Given the description of an element on the screen output the (x, y) to click on. 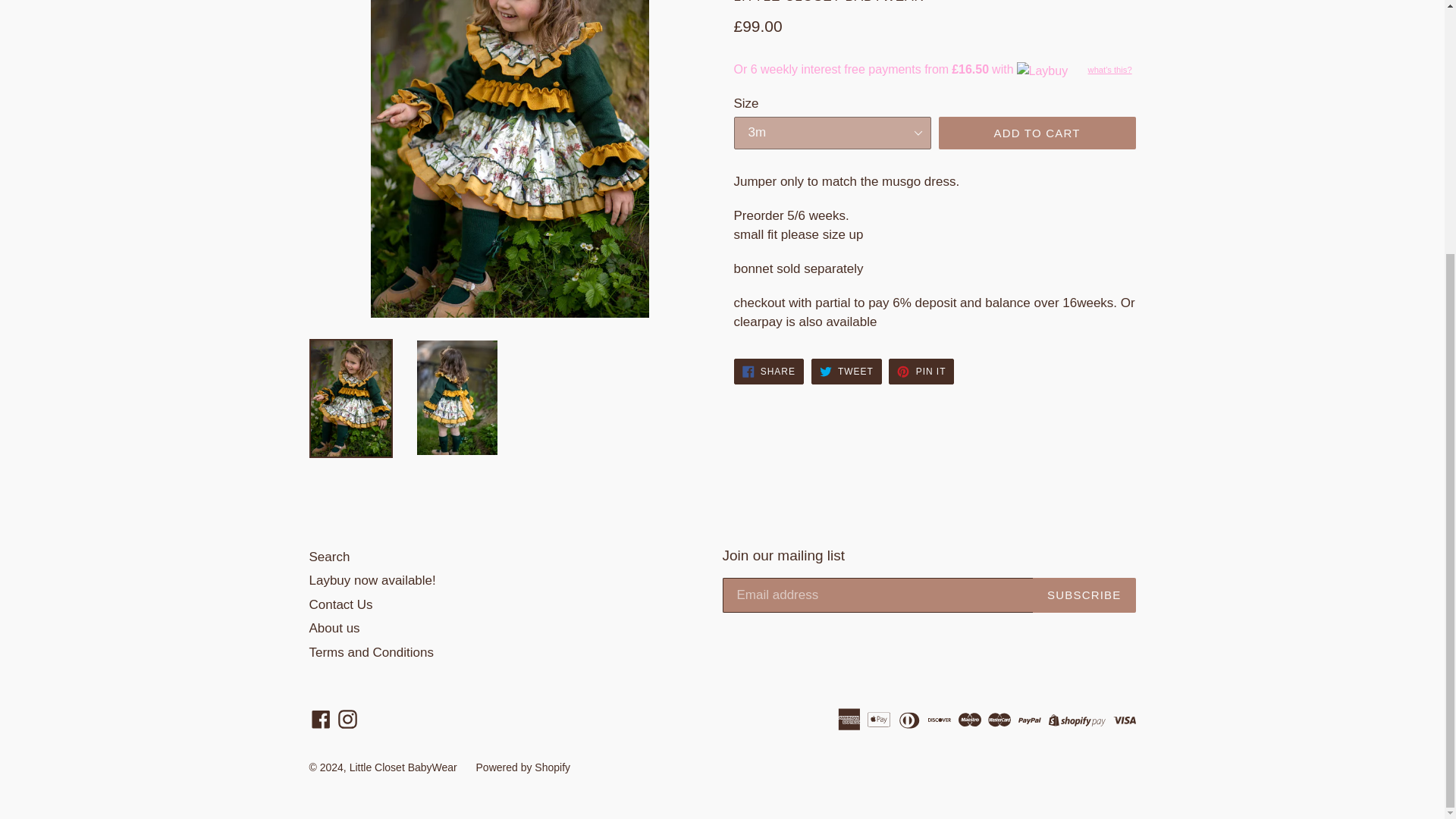
Tweet on Twitter (846, 371)
Little Closet BabyWear on Facebook (320, 718)
Share on Facebook (768, 371)
Little Closet BabyWear on Instagram (347, 718)
Pin on Pinterest (920, 371)
